Given the description of an element on the screen output the (x, y) to click on. 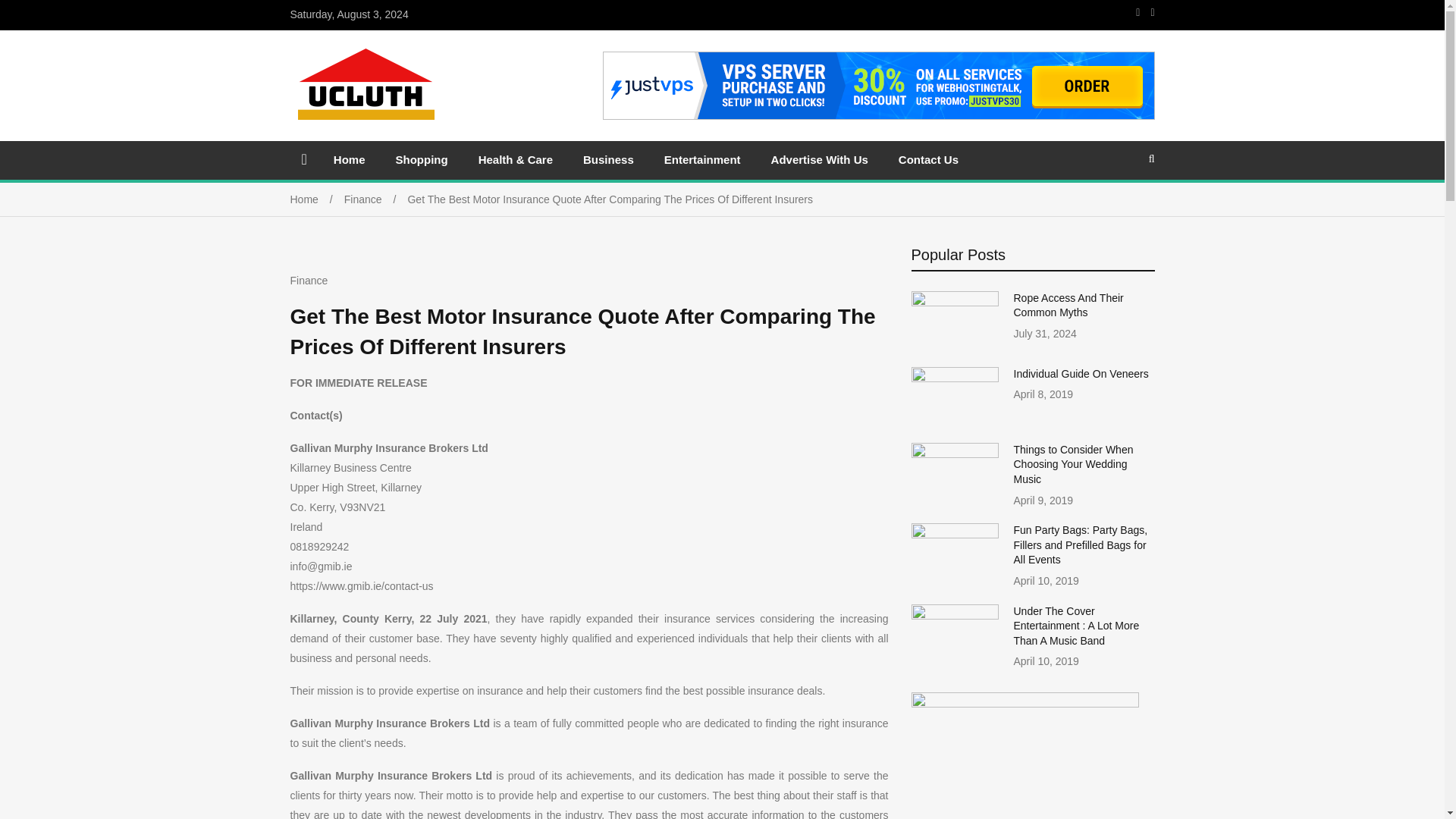
Individual Guide On Veneers (1080, 373)
Contact Us (928, 159)
Finance (375, 199)
Home (349, 159)
Shopping (421, 159)
Finance (308, 280)
Things to Consider When Choosing Your Wedding Music (1072, 464)
Advertise With Us (819, 159)
Business (608, 159)
